Given the description of an element on the screen output the (x, y) to click on. 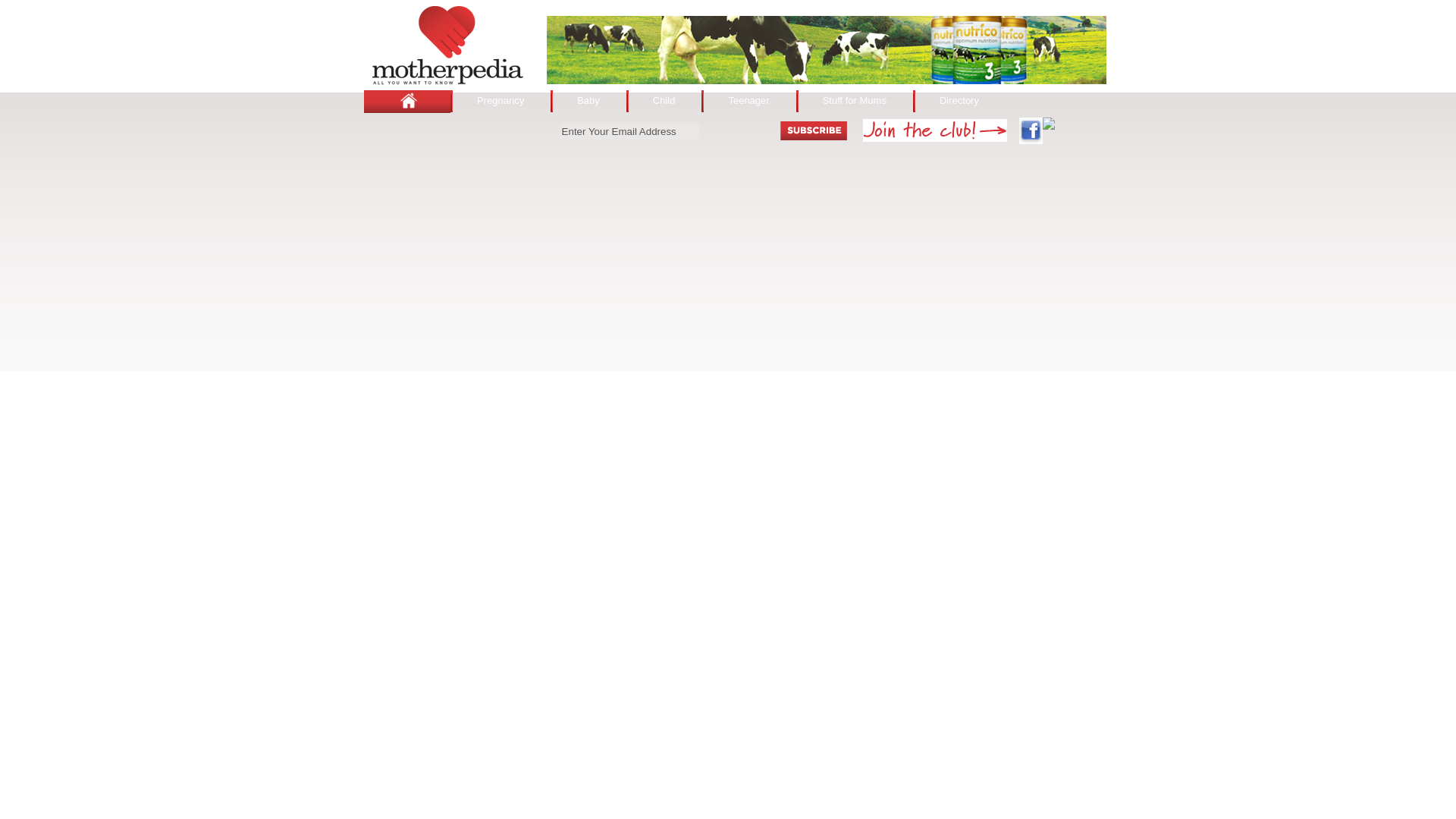
Pregnancy (499, 101)
Teenager (747, 101)
Enter Your Email Address (630, 130)
Nutrico Infant Milk (826, 49)
Baby (588, 101)
Directory (959, 101)
Subscribe (813, 130)
All you want to know (447, 45)
Stuff for Mums (854, 101)
Child (663, 101)
